Given the description of an element on the screen output the (x, y) to click on. 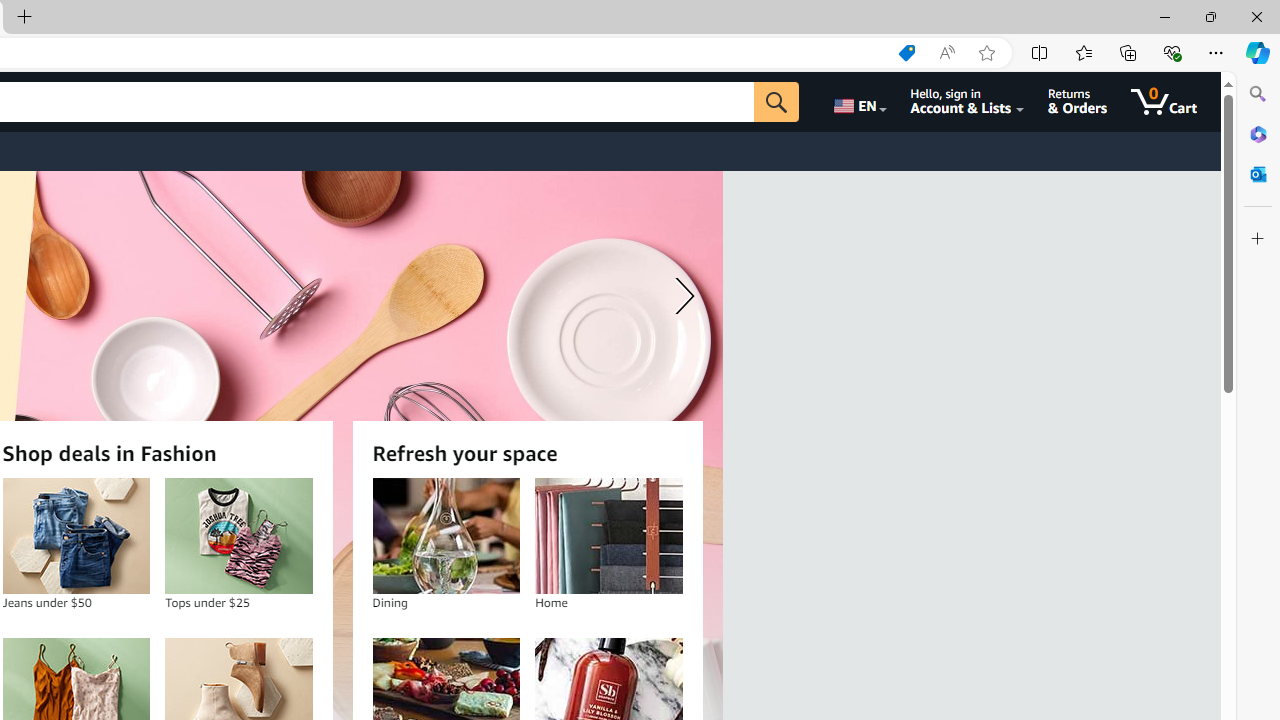
Returns & Orders (1077, 101)
Hello, sign in Account & Lists (967, 101)
Dining (445, 536)
Tops under $25 (239, 536)
Jeans under $50 (75, 536)
0 items in cart (1163, 101)
Shopping in Microsoft Edge (906, 53)
Close Outlook pane (1258, 174)
Favorites (1083, 52)
